Given the description of an element on the screen output the (x, y) to click on. 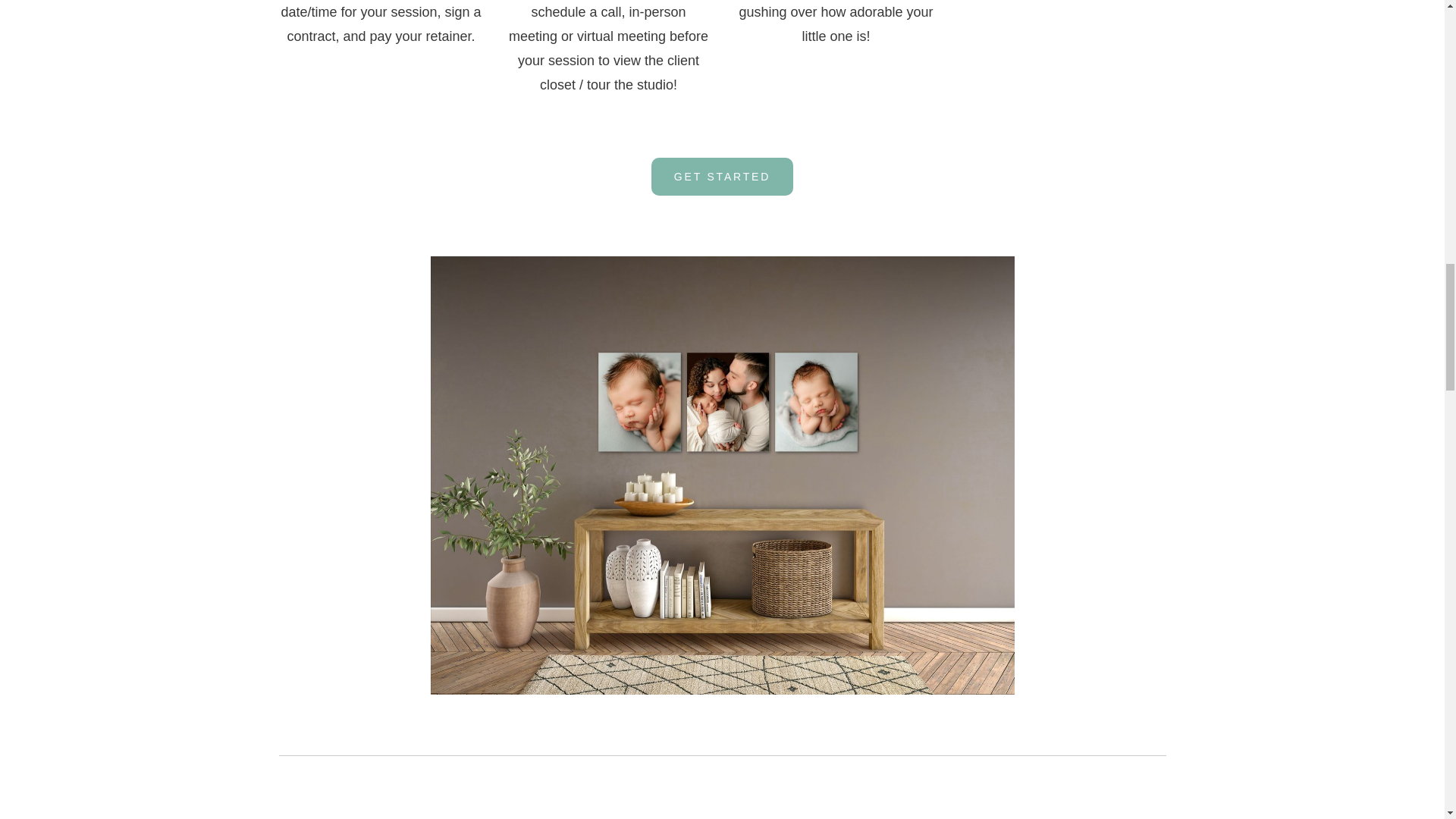
GET STARTED (721, 176)
